Given the description of an element on the screen output the (x, y) to click on. 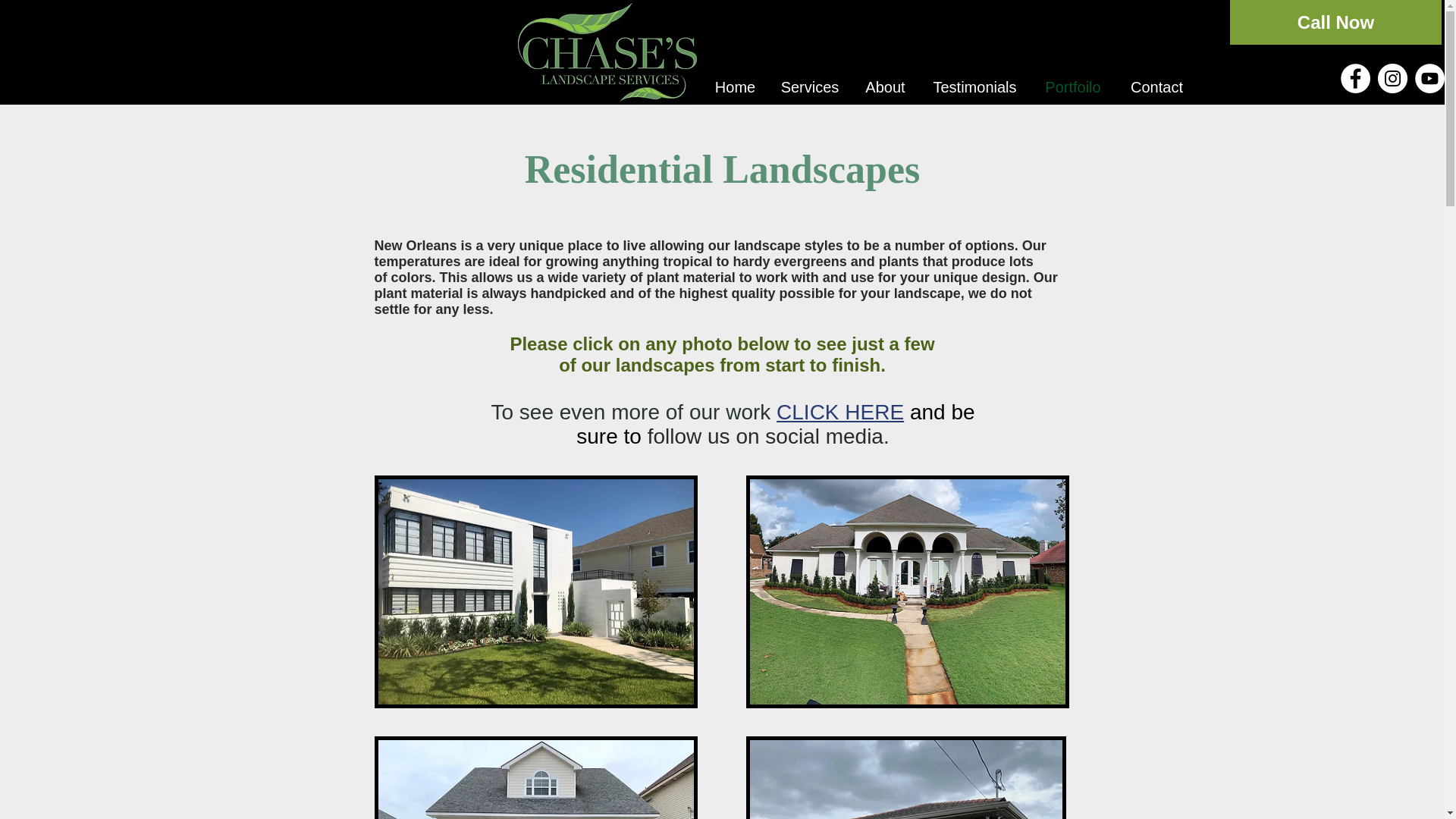
Call Now (1335, 22)
Testimonials (974, 87)
CLICK HERE (840, 412)
Contact (1156, 87)
Portfoilo (1072, 87)
Home (734, 87)
About (885, 87)
Services (809, 87)
